Given the description of an element on the screen output the (x, y) to click on. 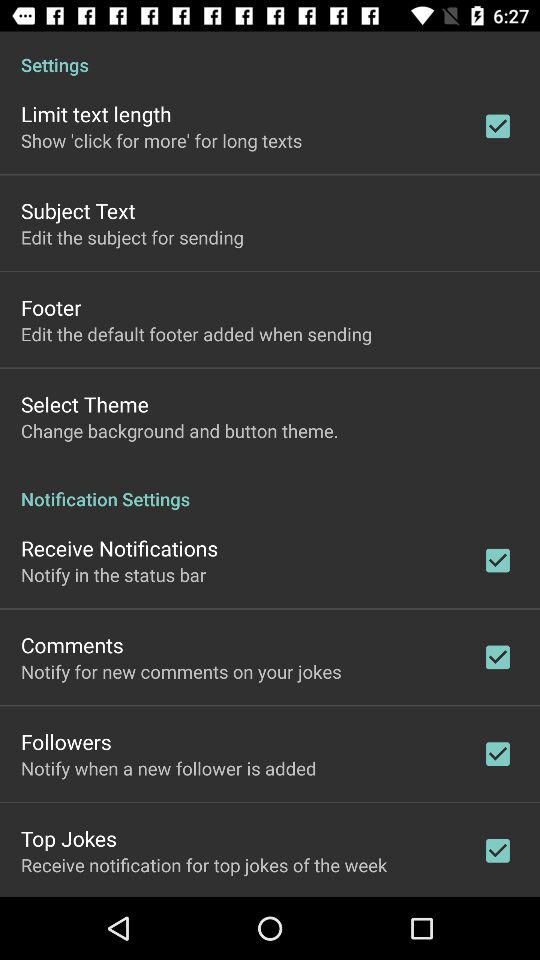
turn on item below receive notifications icon (113, 574)
